Given the description of an element on the screen output the (x, y) to click on. 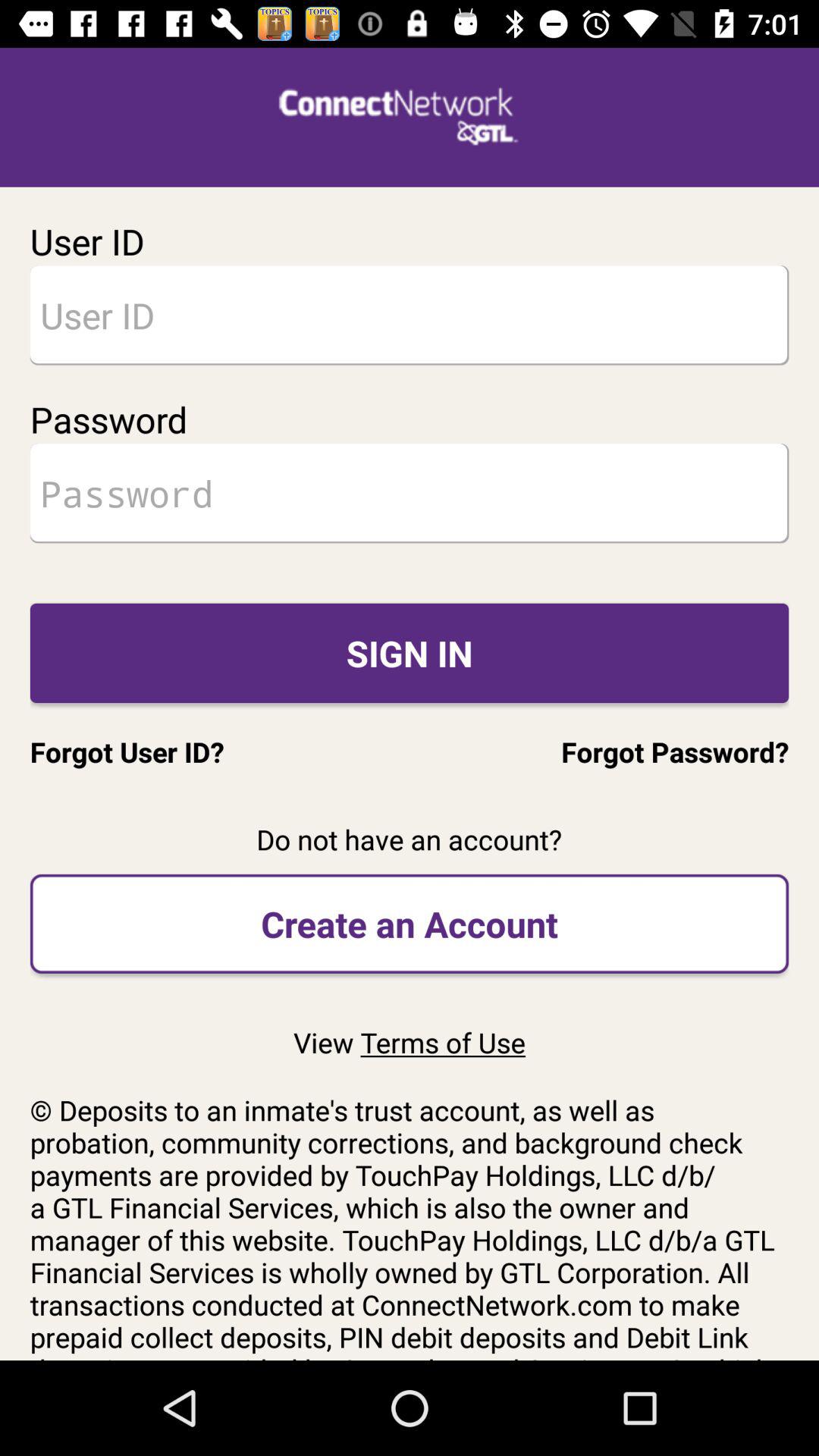
press the item below create an account (409, 1042)
